Given the description of an element on the screen output the (x, y) to click on. 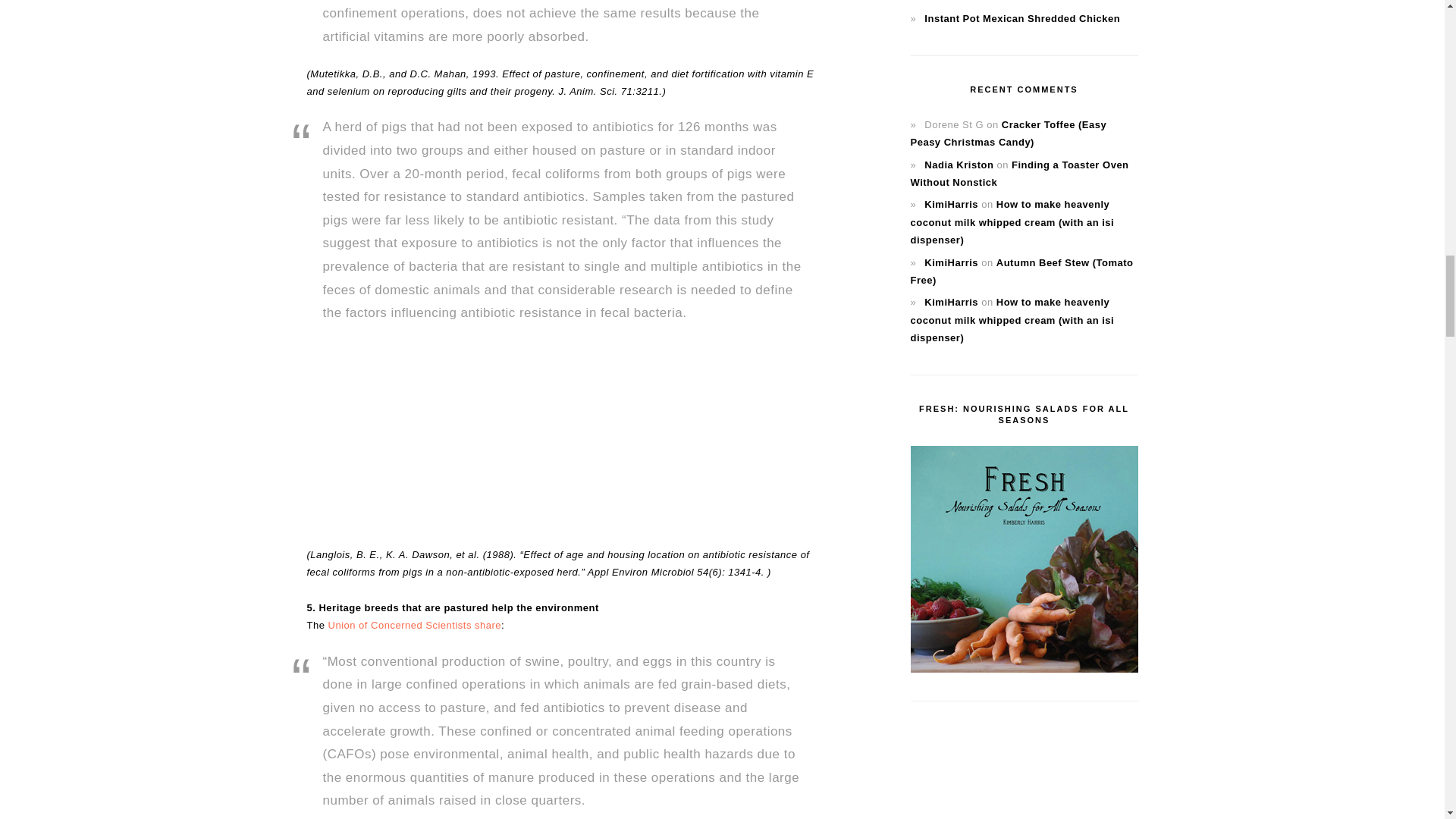
Union of Concerned Scientists share (415, 624)
Fresh Cover (1023, 558)
